Given the description of an element on the screen output the (x, y) to click on. 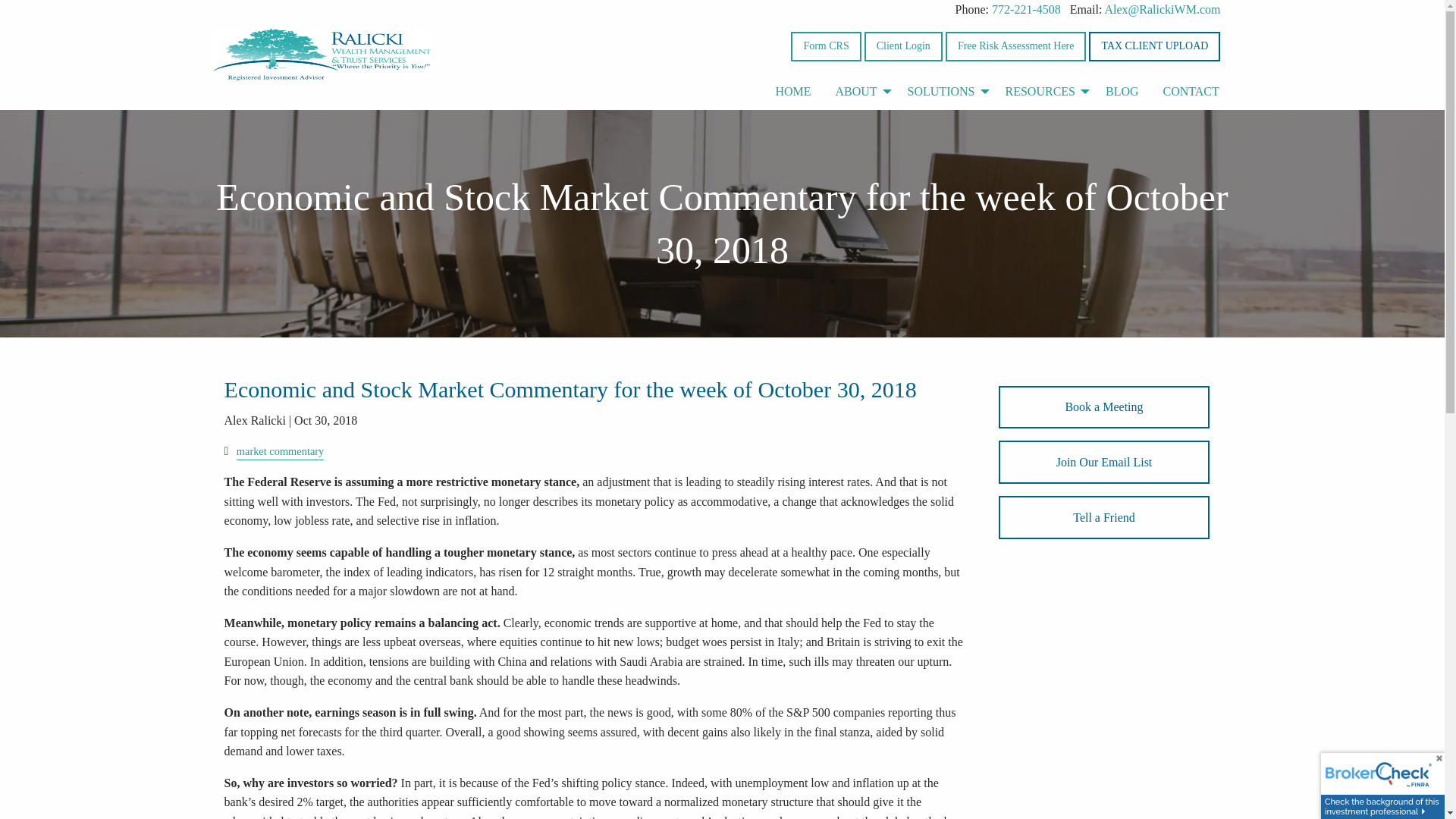
SOLUTIONS (943, 91)
Free Risk Assessment Here (1015, 46)
Form CRS (825, 46)
Client Login (903, 46)
HOME (792, 91)
Join Our Email List (1103, 462)
CONTACT (1191, 91)
Form CRS (825, 46)
market commentary (279, 451)
BLOG (1122, 91)
TAX CLIENT UPLOAD (1154, 46)
Tell a Friend (1103, 517)
Book a Meeting (1103, 407)
Contact (1191, 91)
